Given the description of an element on the screen output the (x, y) to click on. 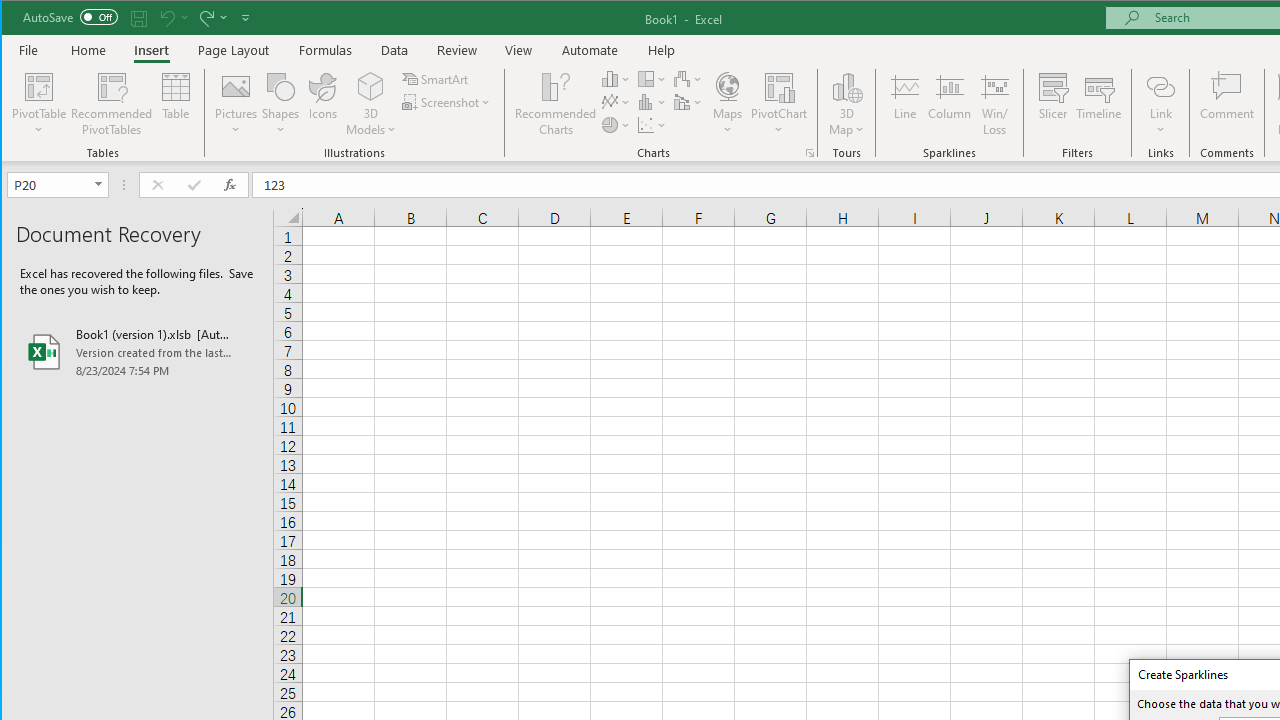
Screenshot (447, 101)
Insert Pie or Doughnut Chart (616, 124)
SmartArt... (436, 78)
PivotTable (39, 104)
Insert Combo Chart (688, 101)
Icons (323, 104)
Insert Hierarchy Chart (652, 78)
3D Models (371, 104)
3D Models (371, 86)
3D Map (846, 104)
